Given the description of an element on the screen output the (x, y) to click on. 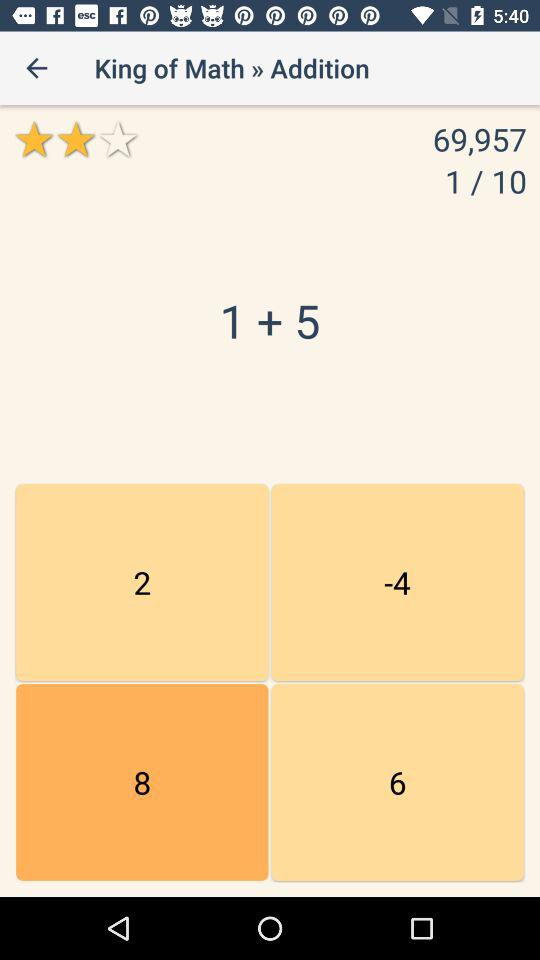
turn off item at the bottom left corner (142, 781)
